Given the description of an element on the screen output the (x, y) to click on. 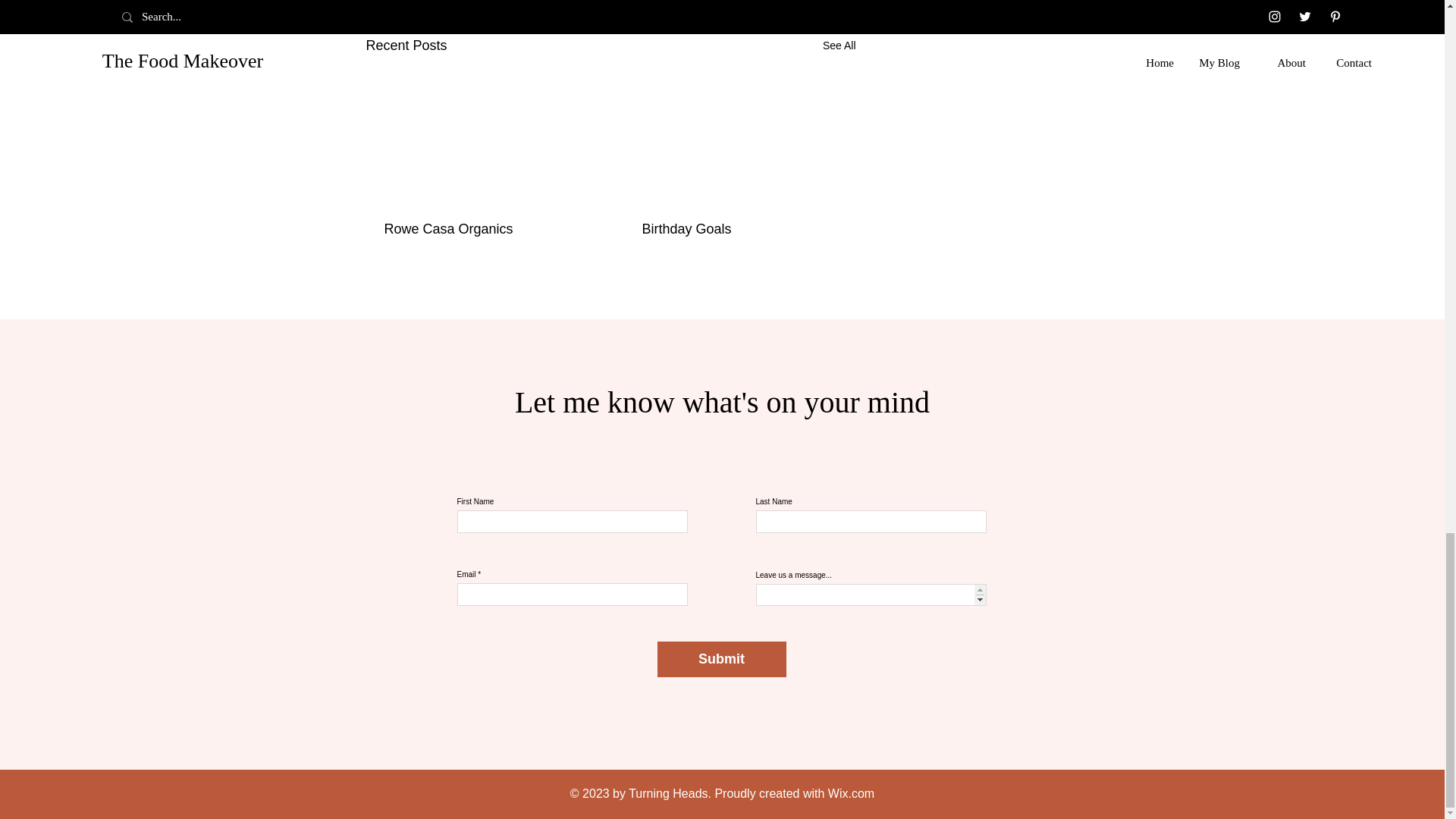
See All (839, 45)
Rowe Casa Organics (481, 229)
Birthday Goals (739, 229)
Submit (721, 659)
Wix.com (851, 793)
